Given the description of an element on the screen output the (x, y) to click on. 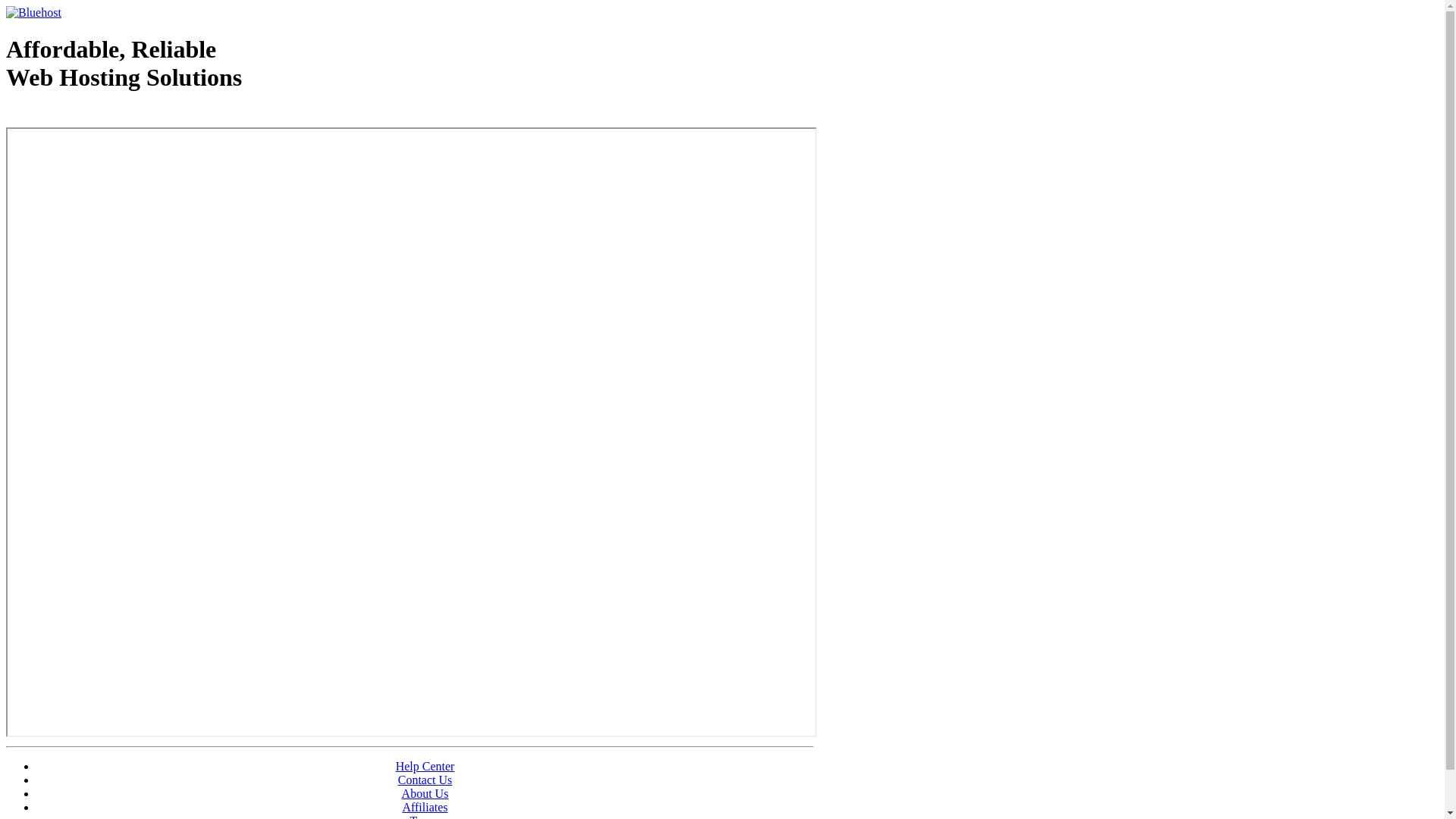
About Us Element type: text (424, 793)
Contact Us Element type: text (425, 779)
Web Hosting - courtesy of www.bluehost.com Element type: text (94, 115)
Affiliates Element type: text (424, 806)
Help Center Element type: text (425, 765)
